Given the description of an element on the screen output the (x, y) to click on. 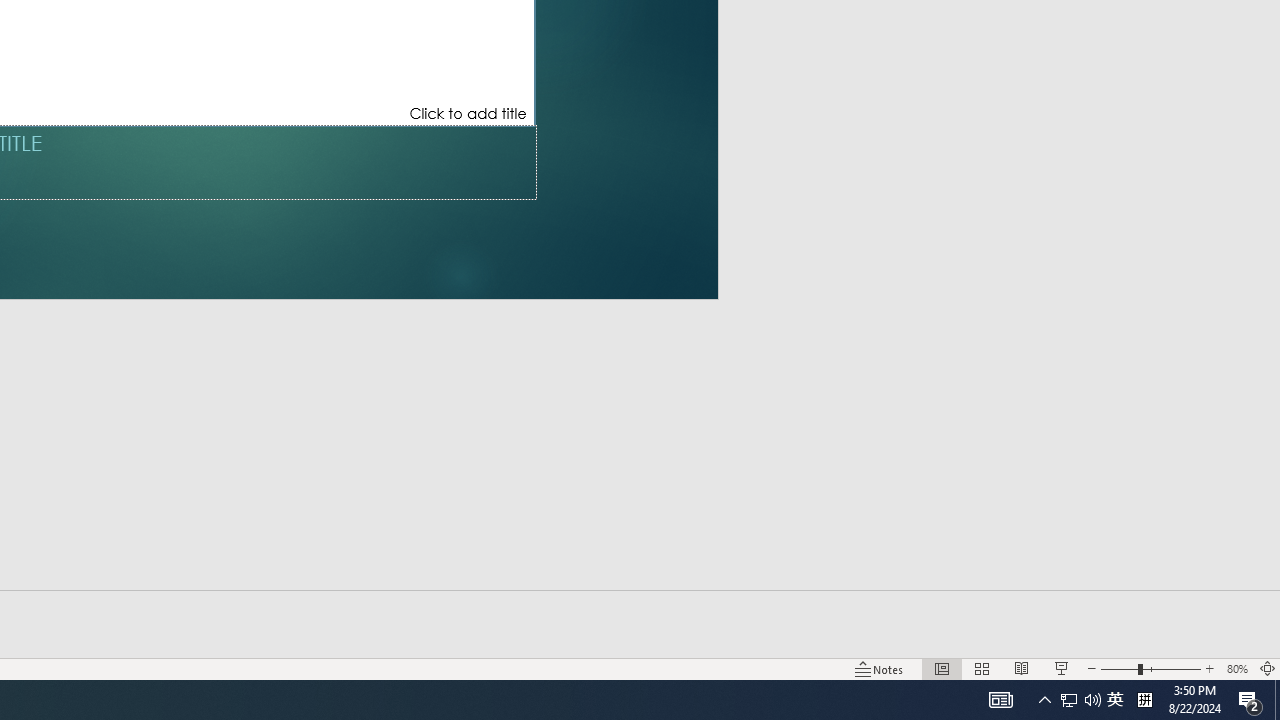
Zoom 80% (1236, 668)
